Given the description of an element on the screen output the (x, y) to click on. 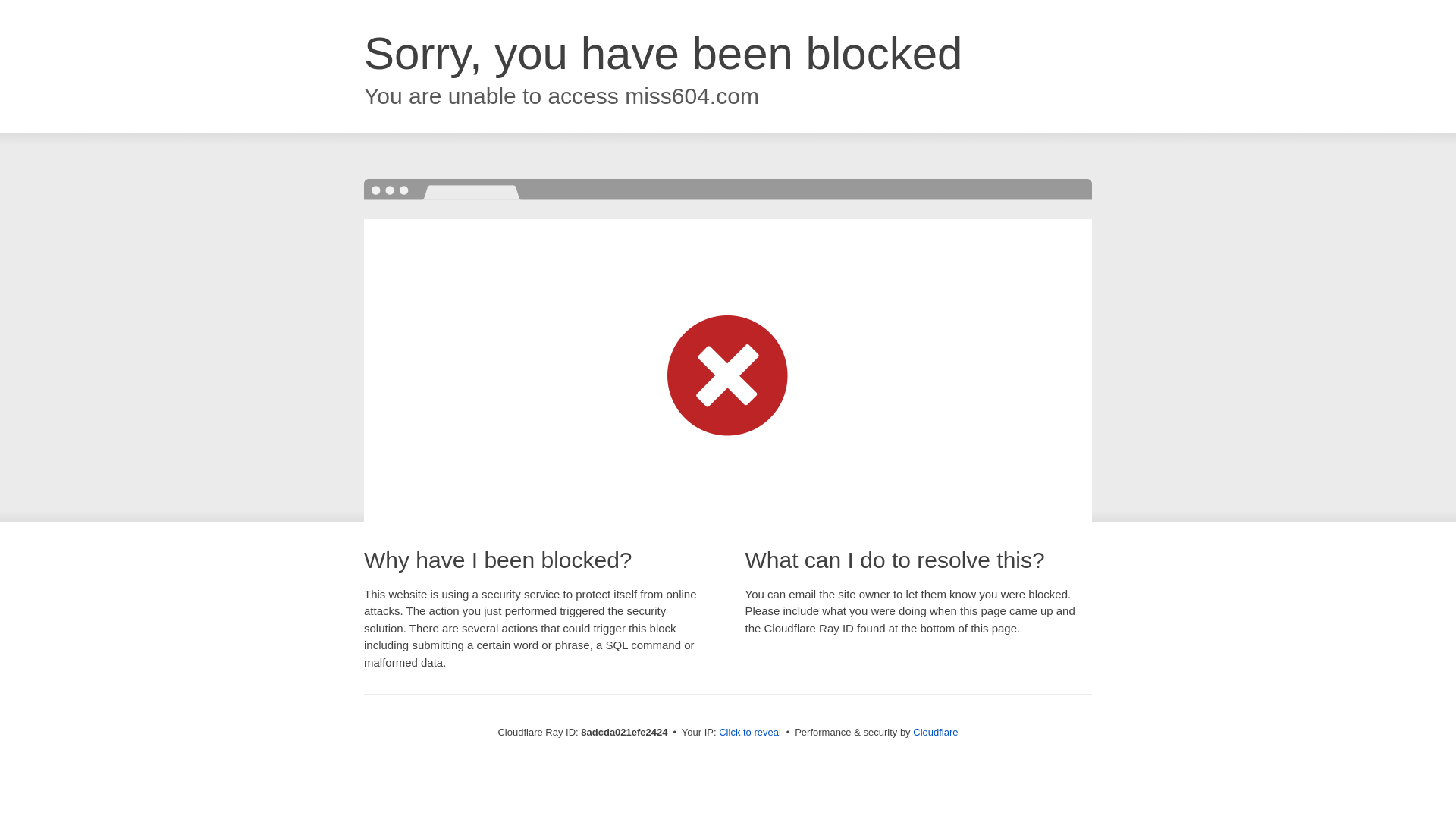
Click to reveal (749, 732)
Cloudflare (935, 731)
